Given the description of an element on the screen output the (x, y) to click on. 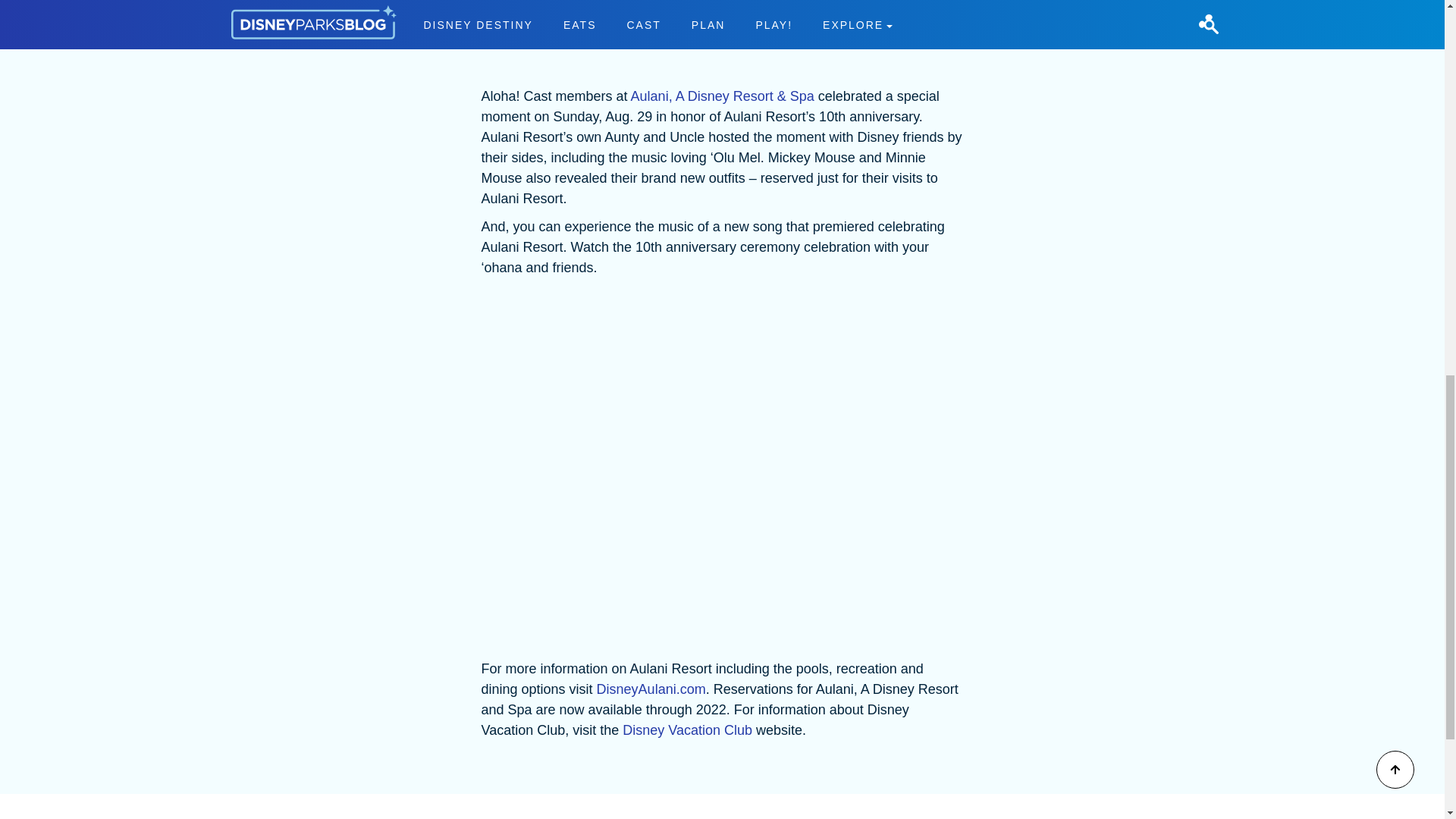
DisneyAulani.com (651, 688)
Disney Vacation Club (721, 20)
